Given the description of an element on the screen output the (x, y) to click on. 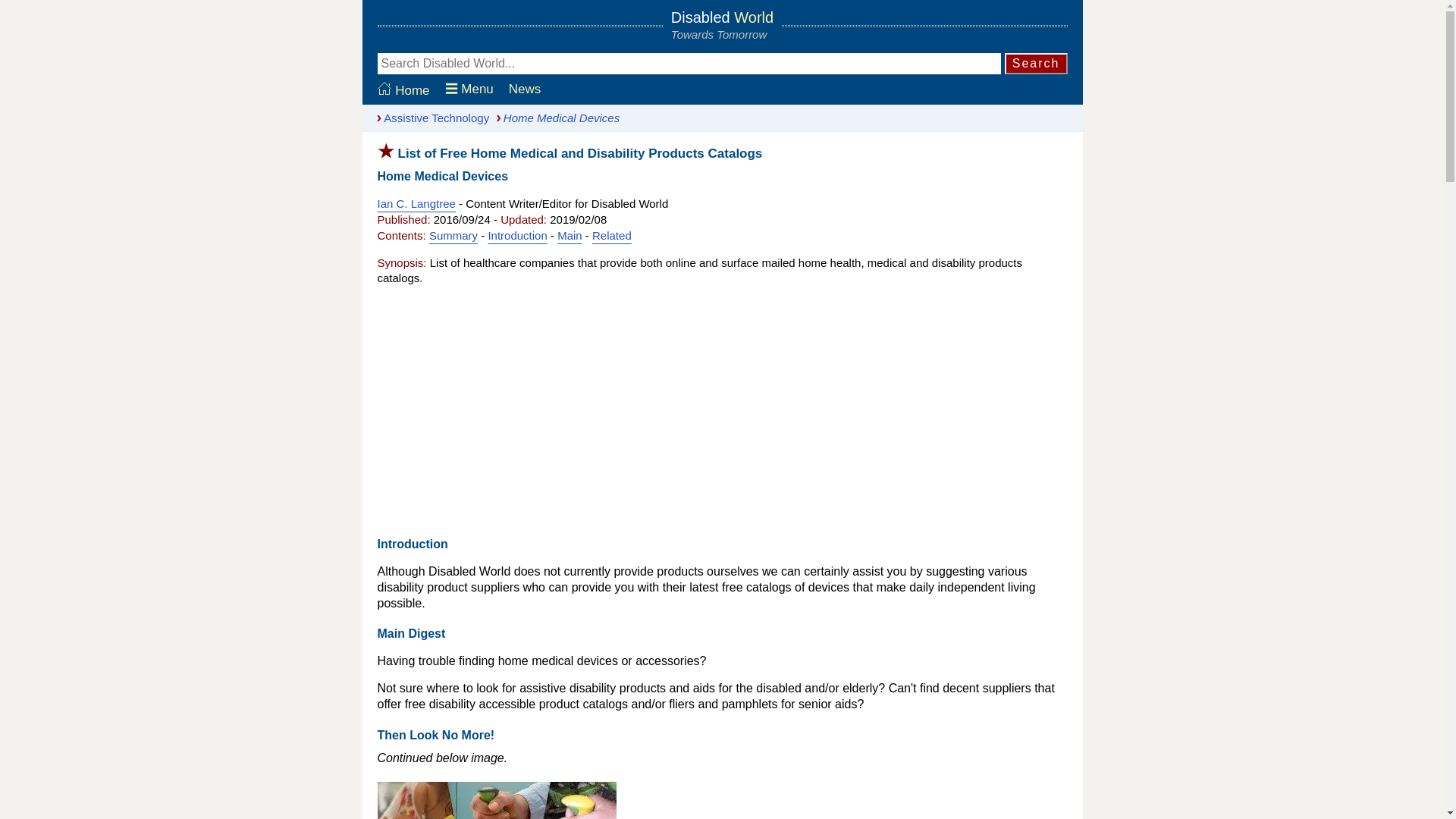
Ian C. Langtree (416, 203)
Main (569, 235)
News (524, 89)
Summary (453, 235)
Go to Assistive Technology (429, 117)
Home Medical Devices (554, 117)
Introduction (517, 235)
Home (403, 90)
Assistive Technology (429, 117)
Go to Home Medical Devices (554, 117)
